Given the description of an element on the screen output the (x, y) to click on. 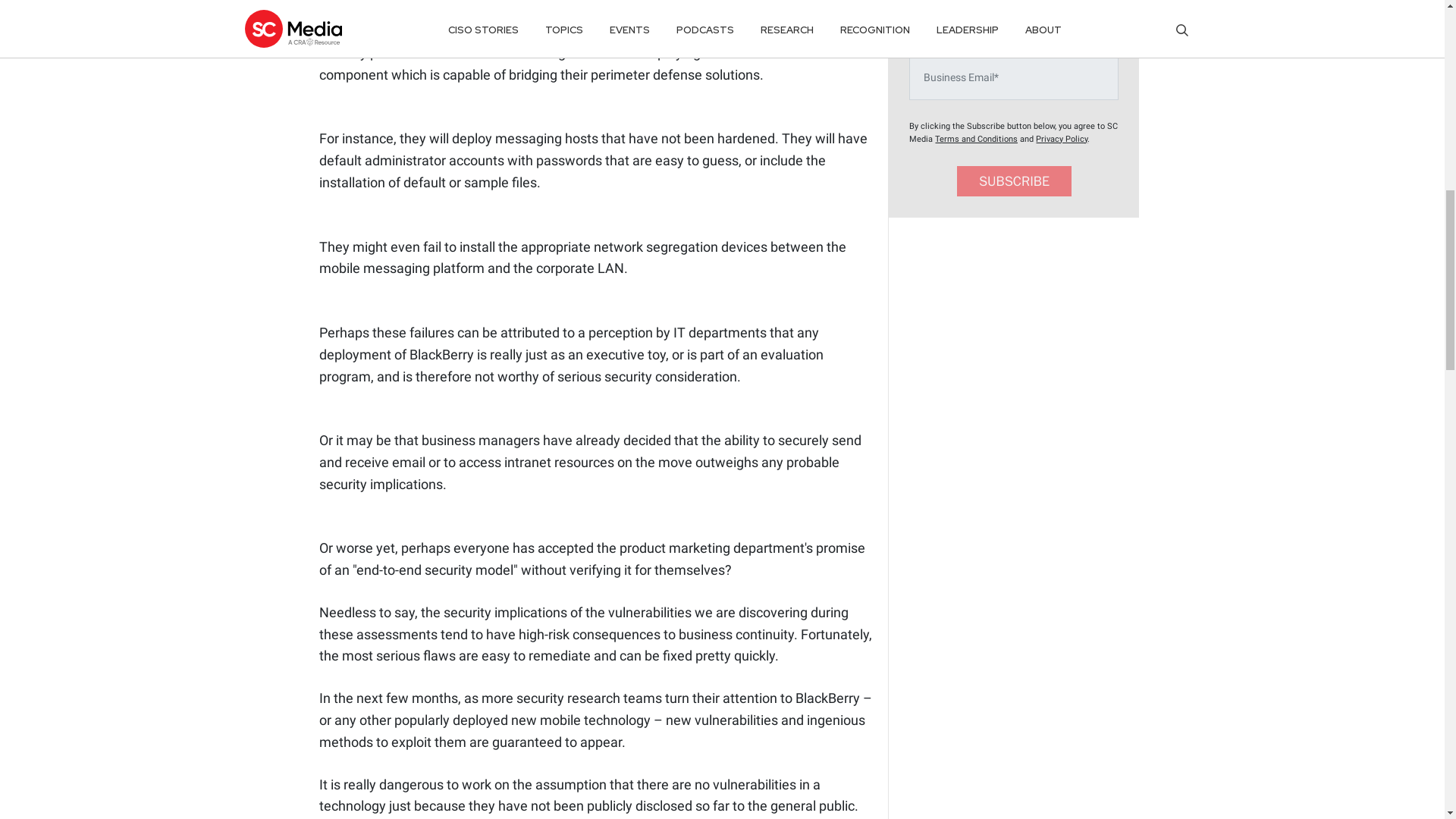
SUBSCRIBE (1013, 181)
Privacy Policy (1061, 139)
Terms and Conditions (975, 139)
